Given the description of an element on the screen output the (x, y) to click on. 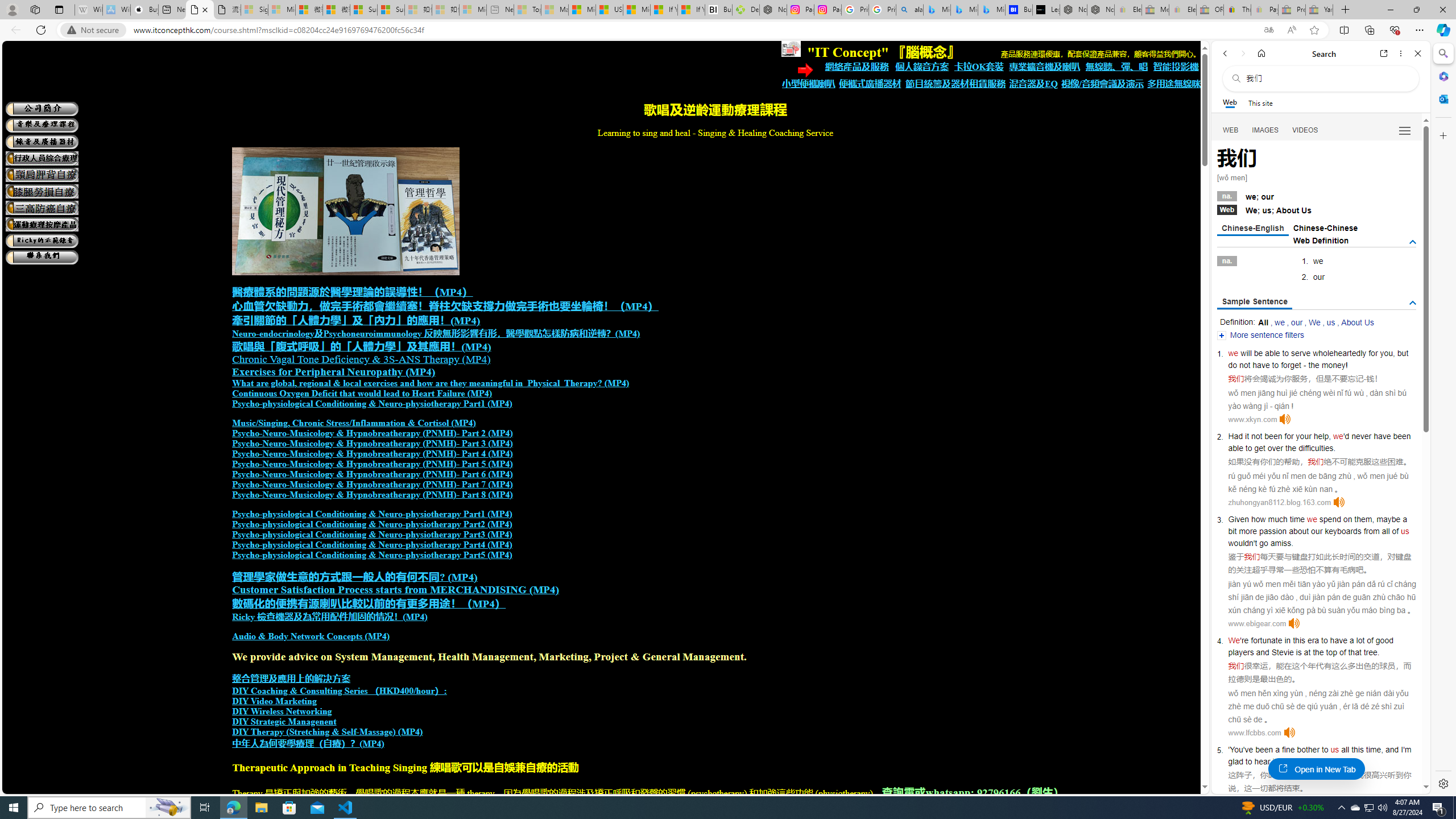
www.ebigear.com (1257, 623)
Audio & Body Network Concepts (MP4) (310, 636)
! (1346, 364)
a bit (1316, 524)
to (1323, 640)
